Given the description of an element on the screen output the (x, y) to click on. 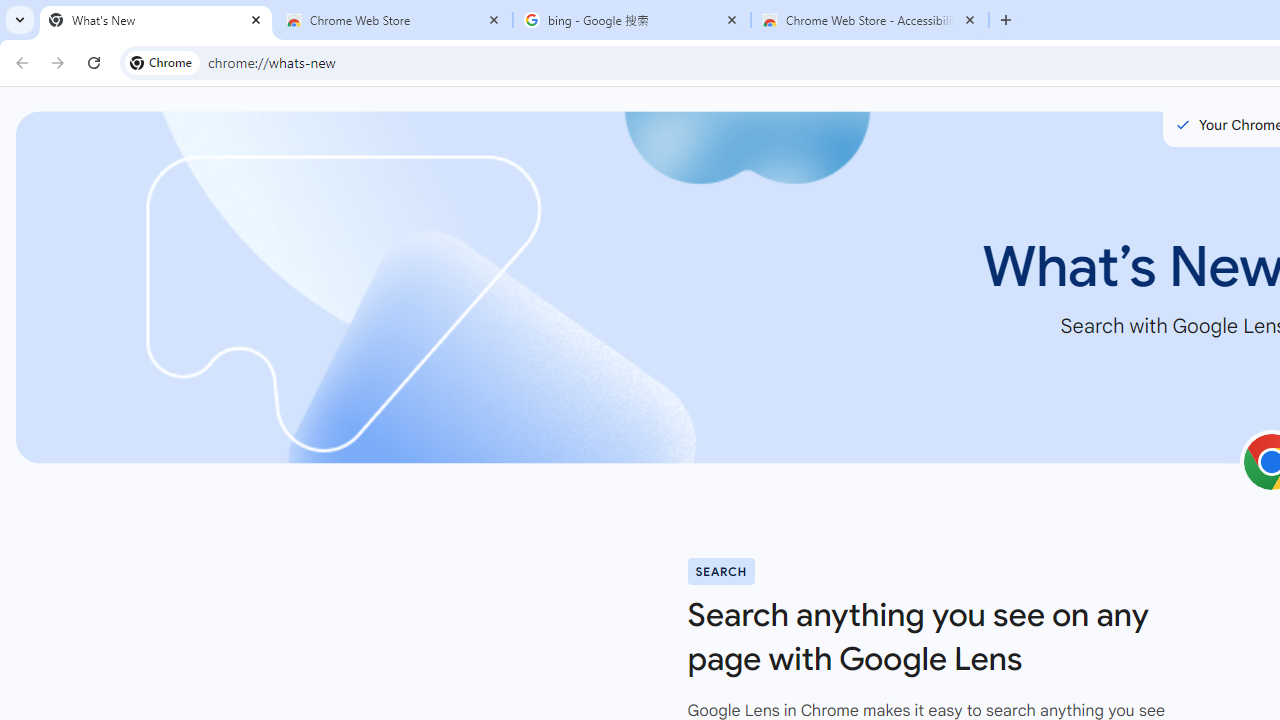
Chrome Web Store (394, 20)
What's New (156, 20)
Chrome Web Store - Accessibility (870, 20)
